Given the description of an element on the screen output the (x, y) to click on. 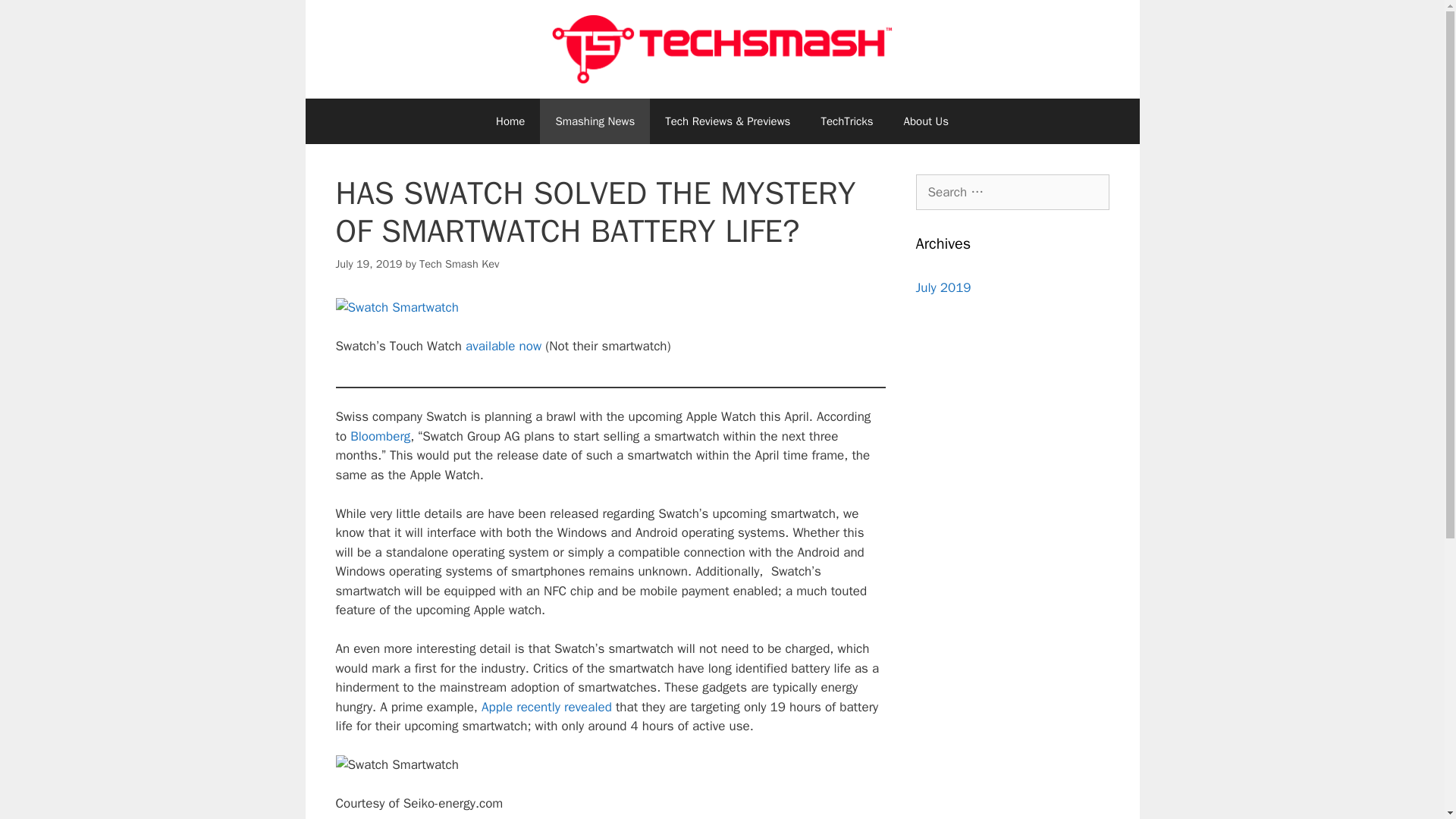
Tech Smash Kev (459, 264)
About Us (925, 121)
July 2019 (943, 287)
Search for: (1012, 192)
TechTricks (846, 121)
Smashing News (594, 121)
Apple recently revealed (546, 706)
Search (35, 18)
Bloomberg (380, 436)
available now (503, 345)
